Given the description of an element on the screen output the (x, y) to click on. 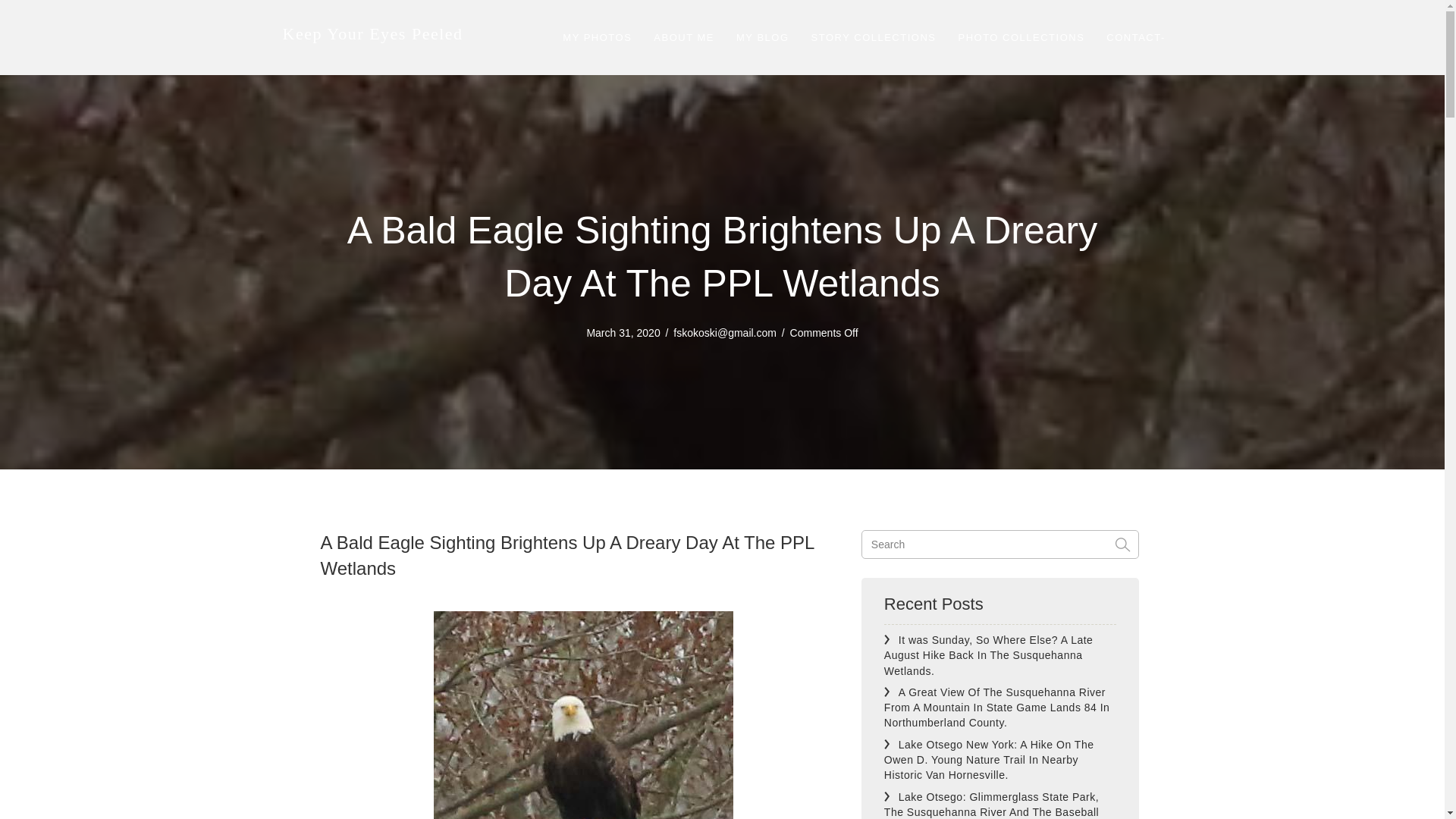
Search (1000, 543)
STORY COLLECTIONS (873, 38)
ABOUT ME (684, 38)
MY BLOG (762, 38)
MY PHOTOS (596, 38)
Keep Your Eyes Peeled (372, 33)
PHOTO COLLECTIONS (1020, 38)
